Given the description of an element on the screen output the (x, y) to click on. 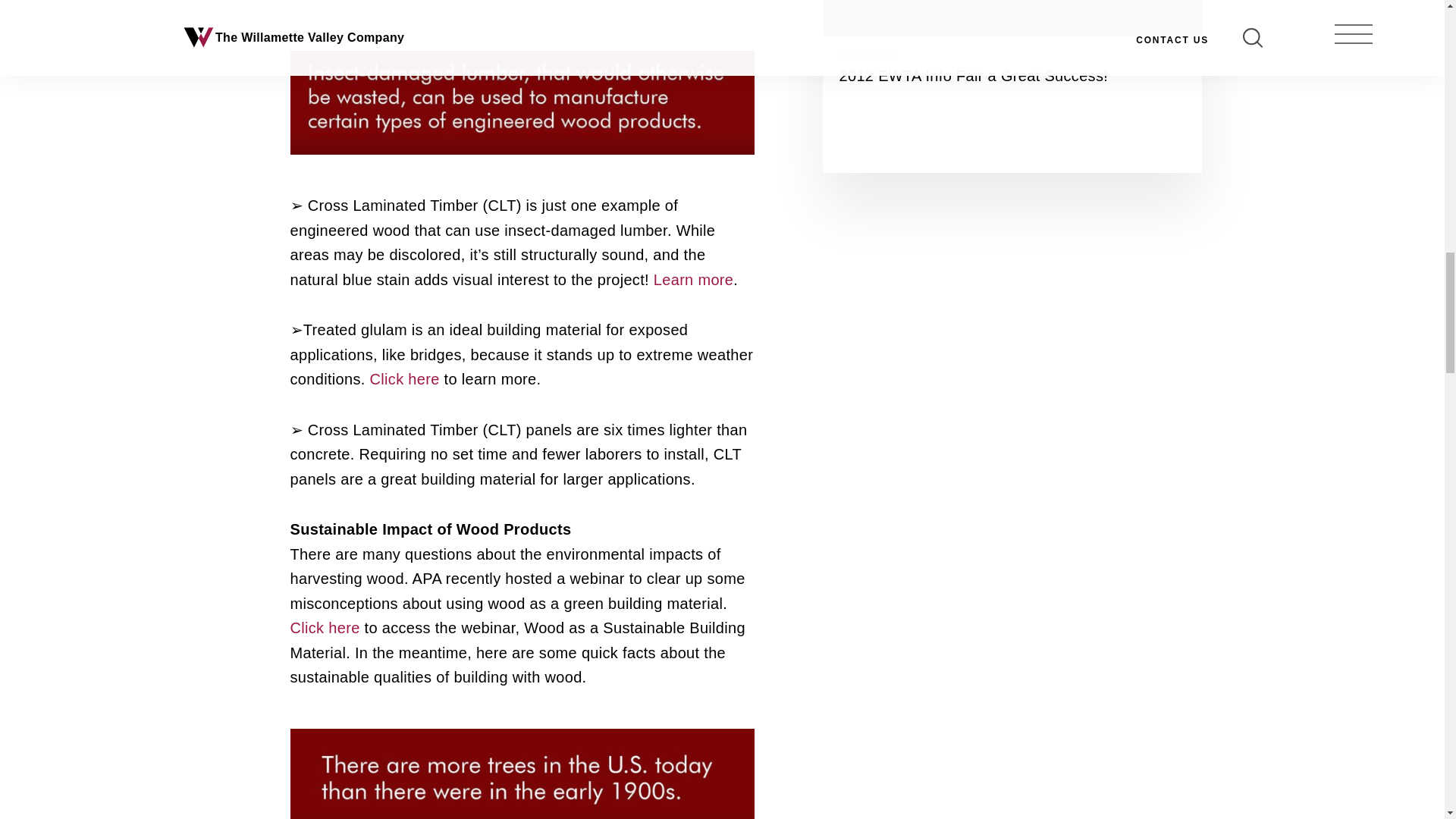
Click here (404, 379)
Click here (324, 627)
Learn more (693, 279)
